Given the description of an element on the screen output the (x, y) to click on. 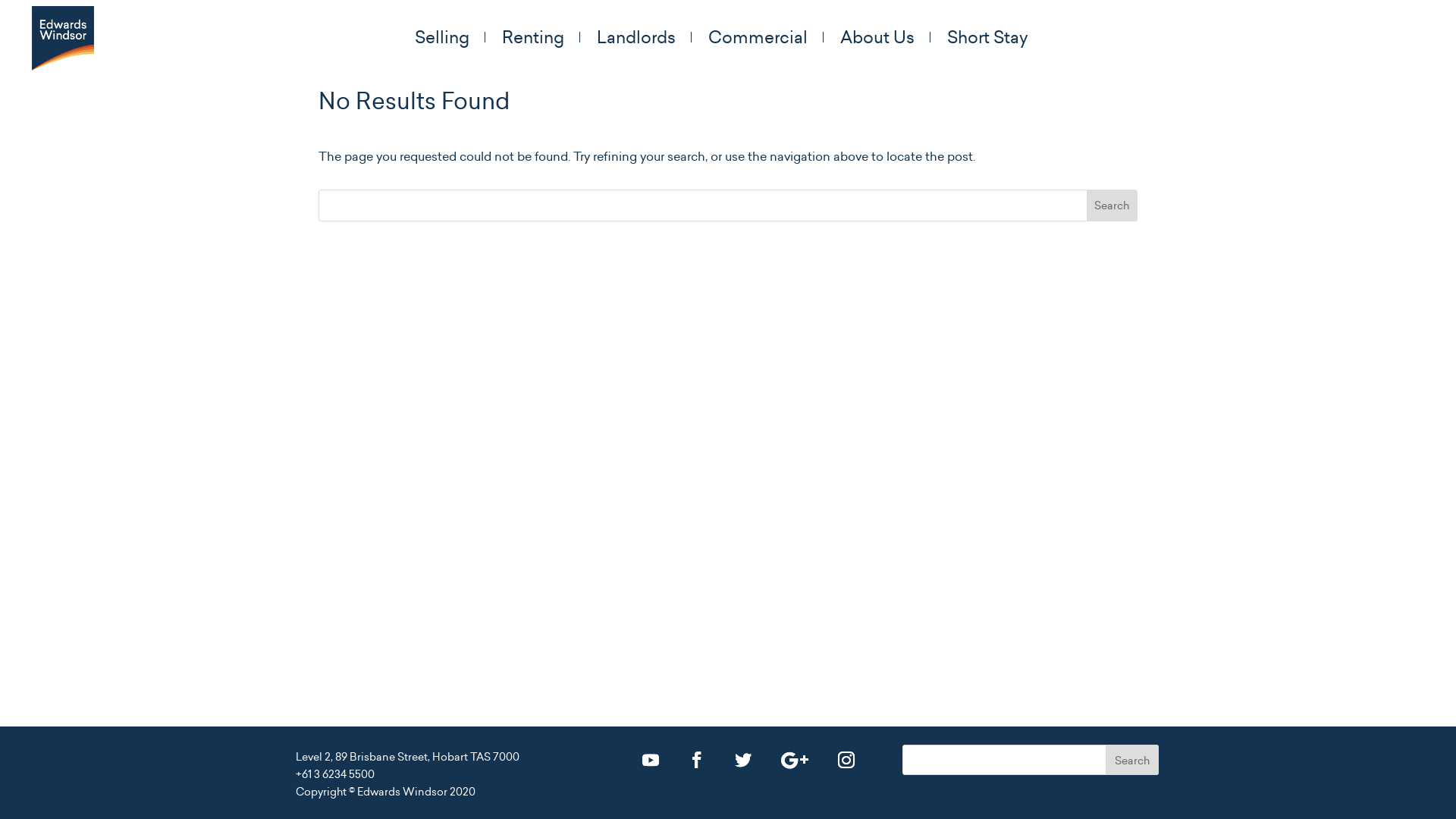
Renting Element type: text (541, 36)
Landlords Element type: text (643, 36)
Search Element type: text (1111, 205)
Selling Element type: text (449, 36)
Short Stay Element type: text (986, 36)
Commercial Element type: text (765, 36)
Search Element type: text (1131, 759)
+61 3 6234 5500 Element type: text (334, 773)
About Us Element type: text (885, 36)
